Given the description of an element on the screen output the (x, y) to click on. 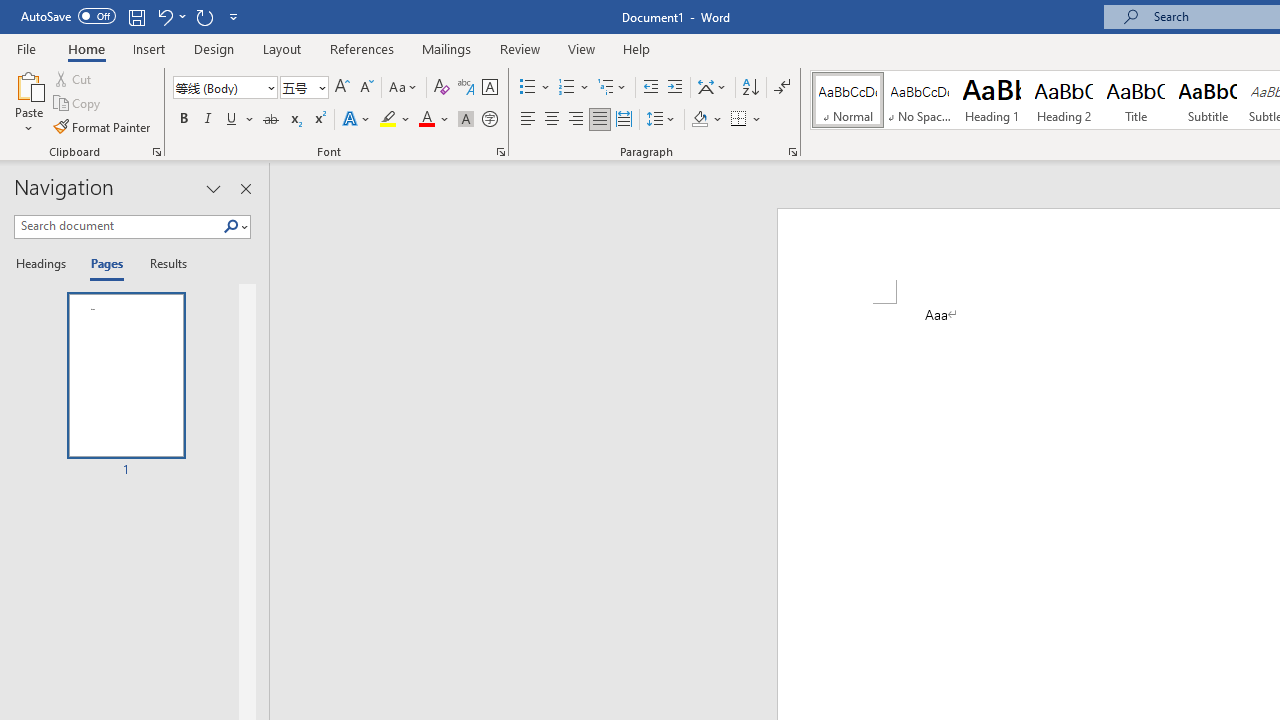
Task Pane Options (214, 188)
Search (231, 227)
AutoSave (68, 16)
Change Case (404, 87)
Format Painter (103, 126)
Italic (207, 119)
Font (218, 87)
Mailings (447, 48)
Undo Increase Indent (170, 15)
Underline (239, 119)
Class: NetUIImage (231, 226)
Subtitle (1208, 100)
Line and Paragraph Spacing (661, 119)
Office Clipboard... (156, 151)
